Given the description of an element on the screen output the (x, y) to click on. 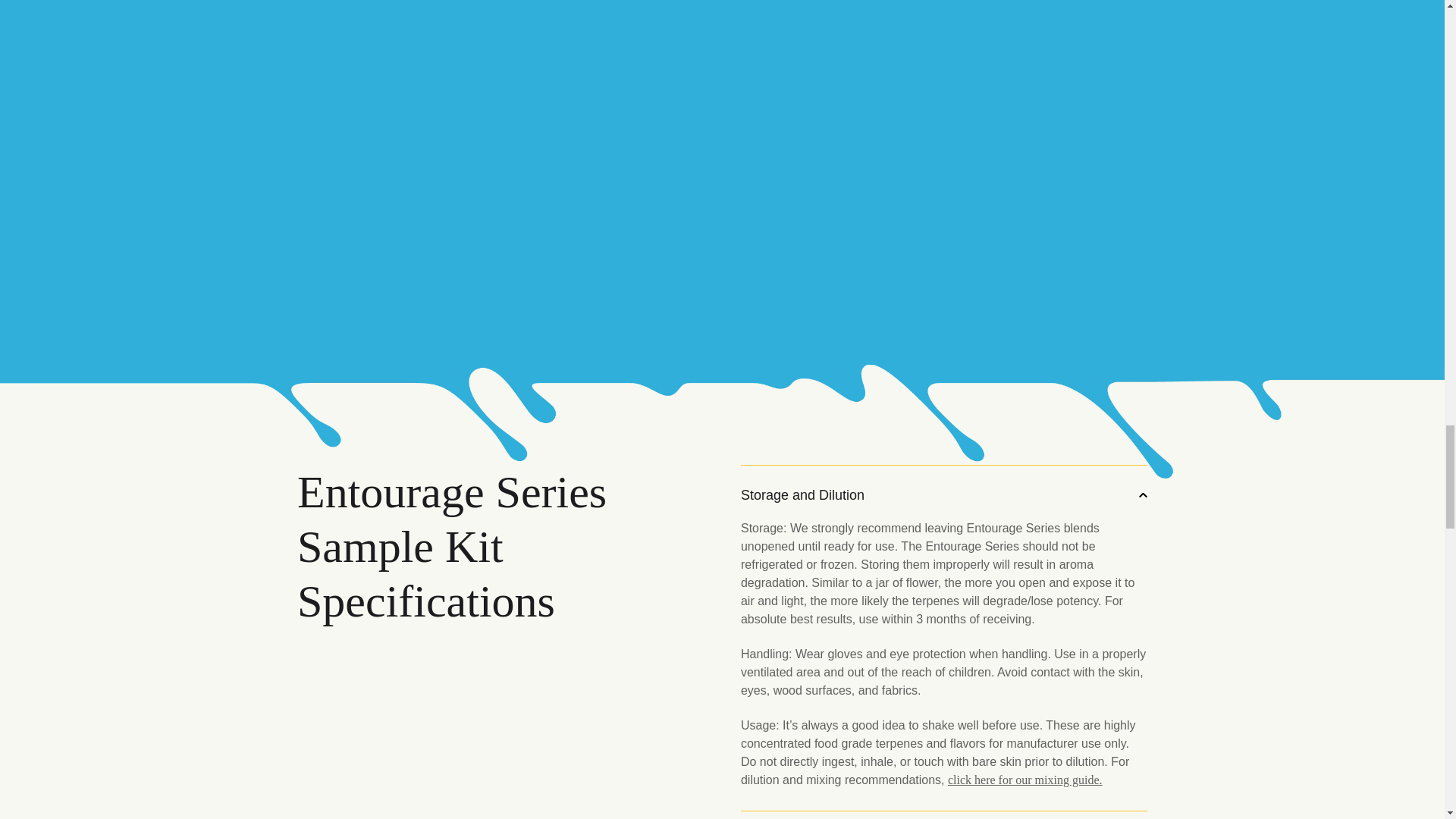
Terpene mixing calculator (1024, 779)
